Given the description of an element on the screen output the (x, y) to click on. 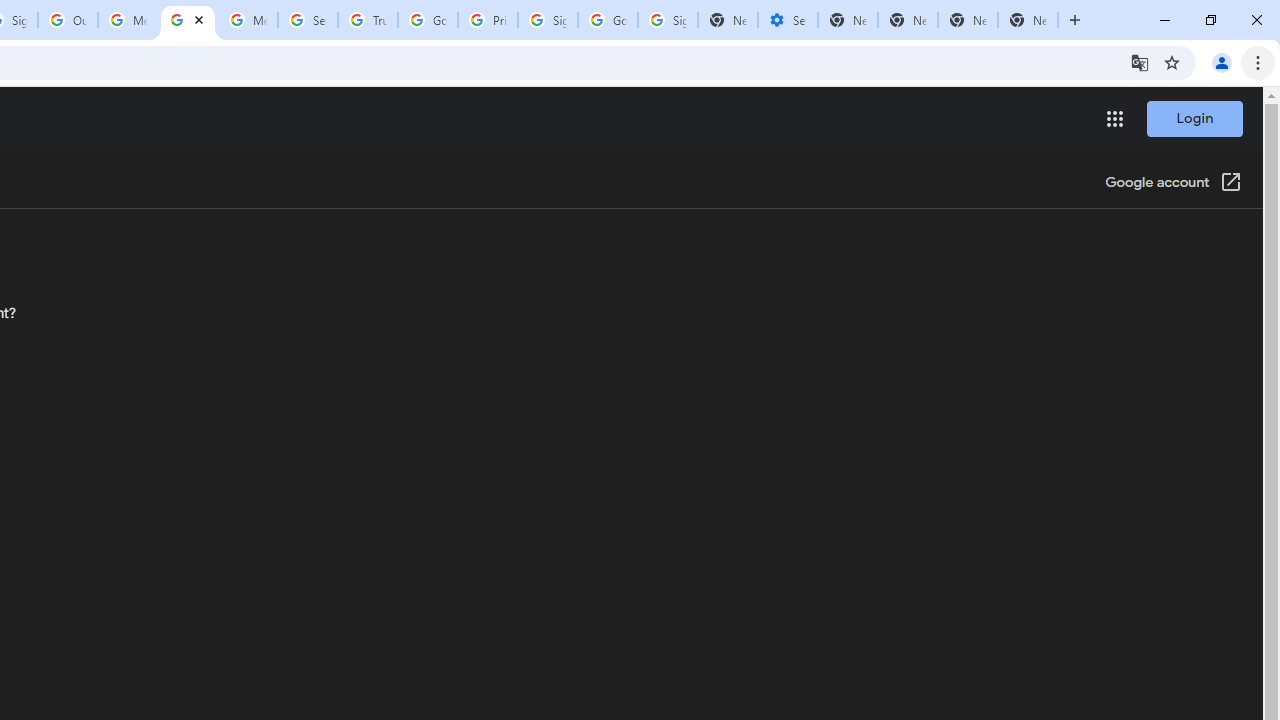
Settings - Performance (787, 20)
Google Ads - Sign in (428, 20)
Turn cookies on or off - Computer - Google Account Help (187, 20)
Google Cybersecurity Innovations - Google Safety Center (607, 20)
Google Account (Opens in new window) (1173, 183)
Translate this page (1139, 62)
